Given the description of an element on the screen output the (x, y) to click on. 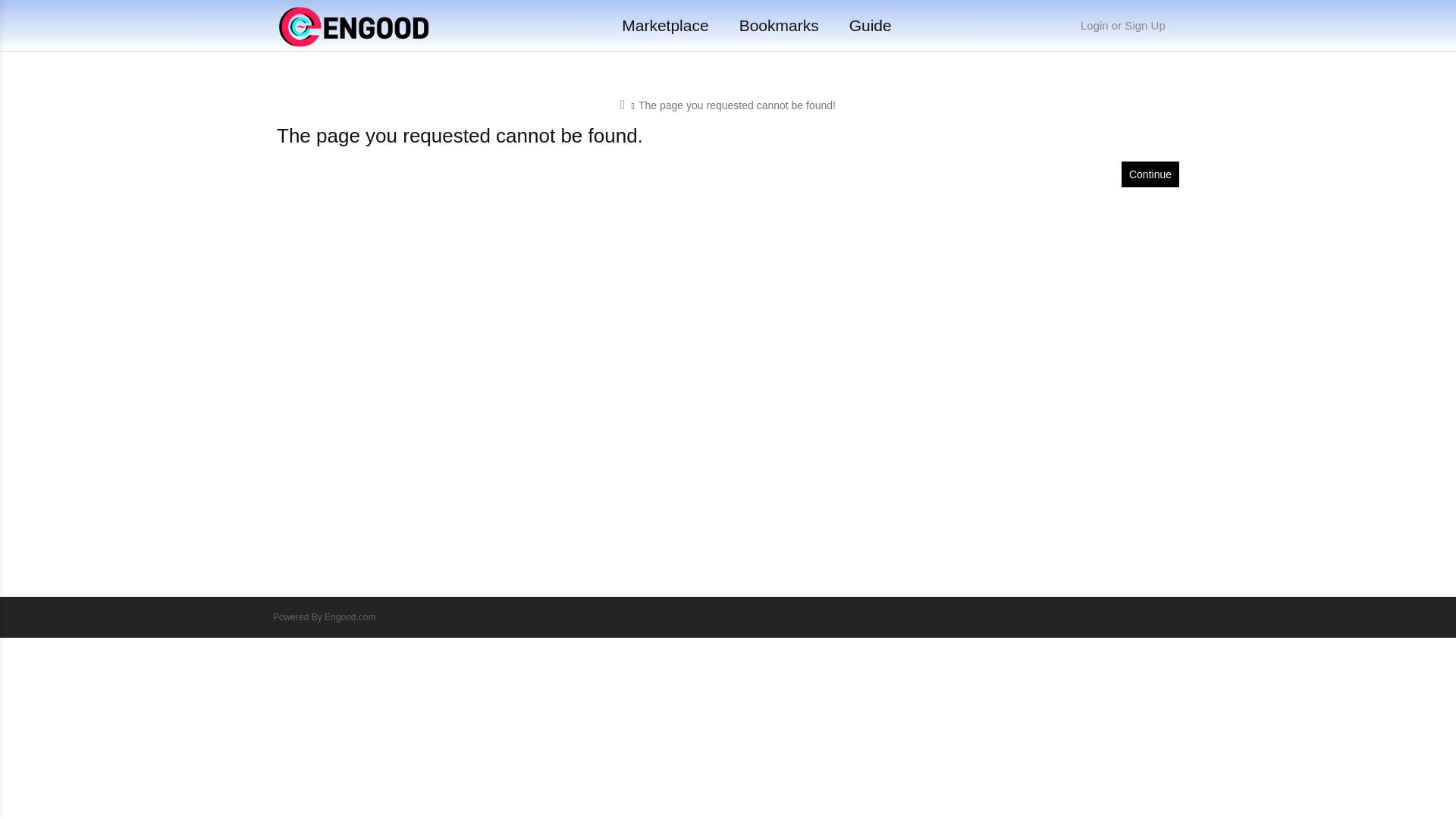
The page you requested cannot be found! (737, 105)
Guide (869, 25)
Bookmarks (778, 25)
Login or Sign Up (1122, 24)
Marketplace (664, 25)
Engood (354, 26)
Continue (1150, 174)
